Given the description of an element on the screen output the (x, y) to click on. 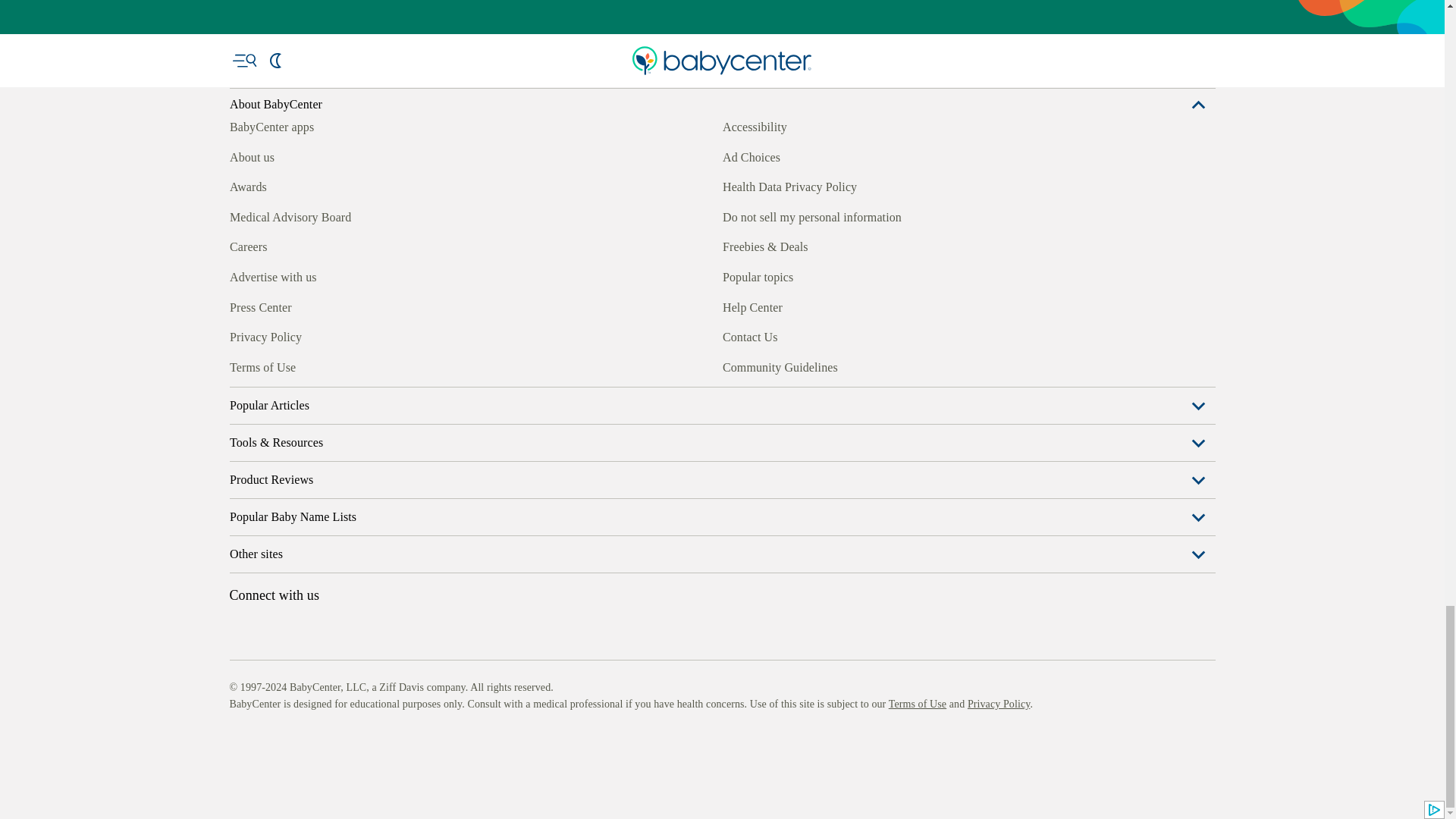
BabyCenter Pinterest board (309, 364)
BabyCenter Facebook page (239, 364)
BabyCenter Twitter feed (379, 364)
BabyCenter YouTube channel (344, 364)
BabyCenter Instagram feed (274, 364)
